Given the description of an element on the screen output the (x, y) to click on. 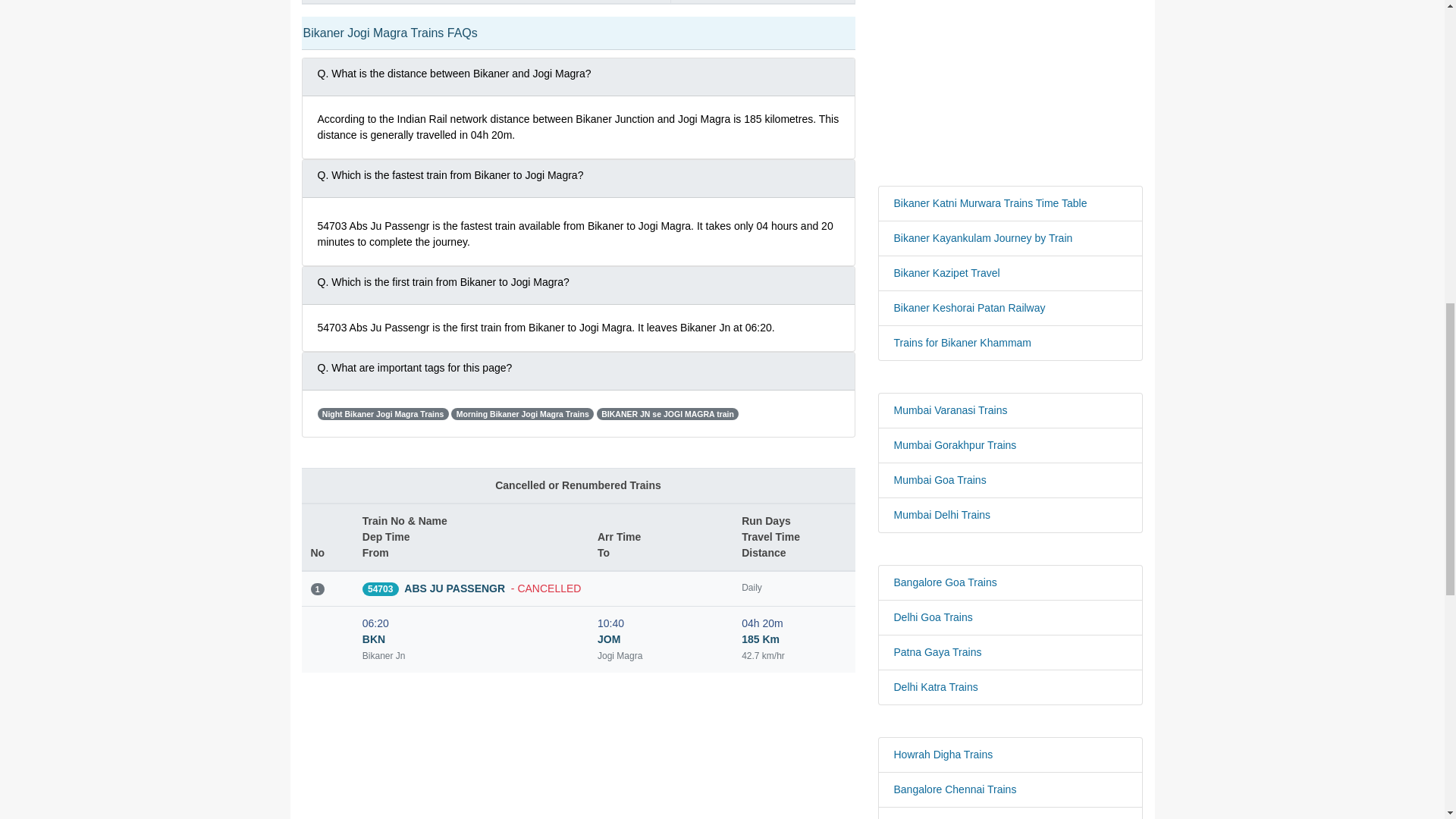
Bikaner Katni Murwara Trains Time Table (1009, 203)
Mumbai Delhi Trains (1009, 515)
Advertisement (1009, 89)
Bikaner Keshorai Patan Railway (1009, 307)
Bangalore Goa Trains (1009, 582)
Trains for Bikaner Khammam (1009, 343)
Bikaner Kayankulam Journey by Train (1009, 238)
Delhi Katra Trains (1009, 687)
Mumbai Varanasi Trains (1009, 410)
Bikaner Kazipet Travel (1009, 273)
